Given the description of an element on the screen output the (x, y) to click on. 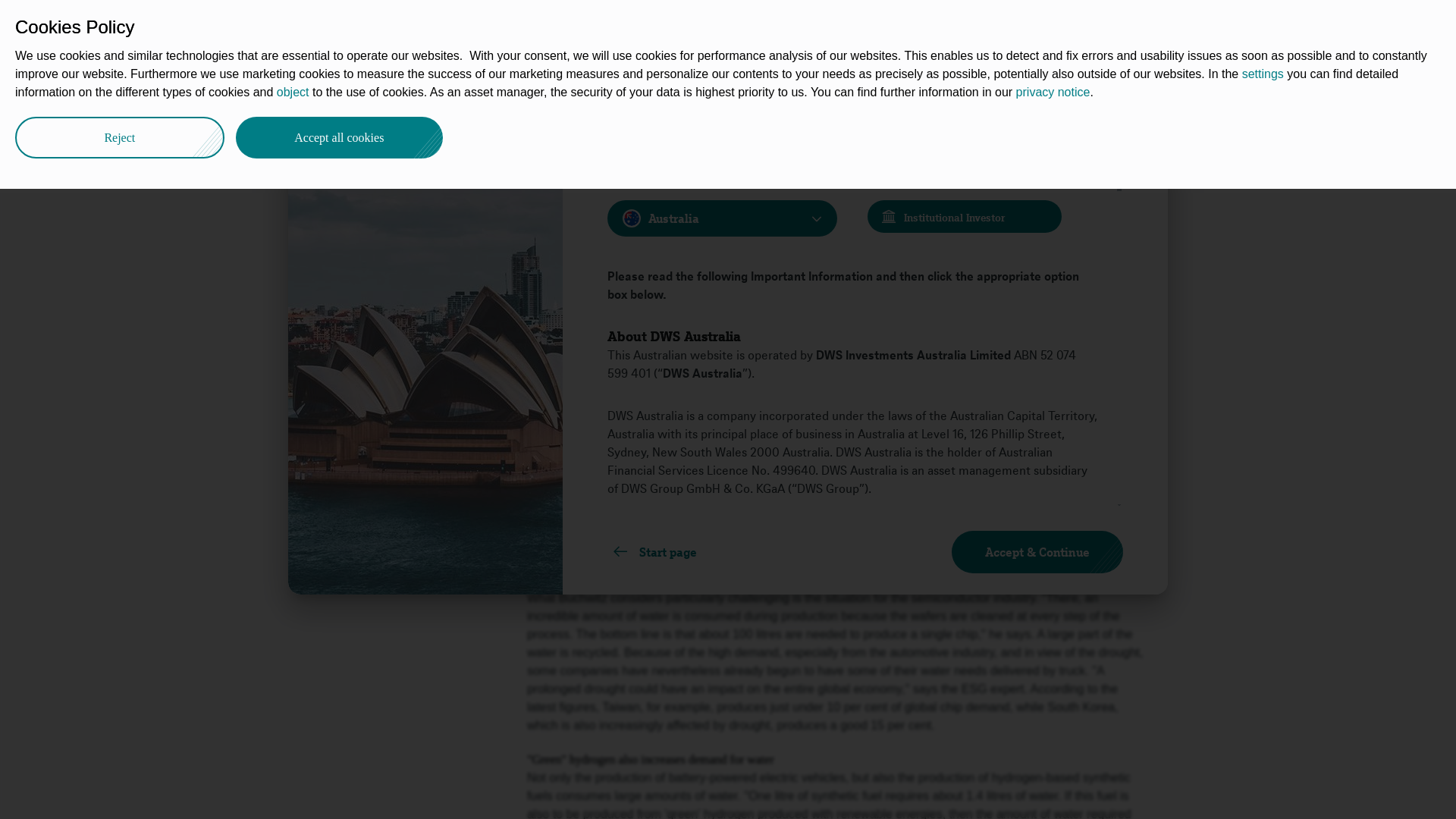
Capabilities (498, 24)
Share (1140, 90)
Media (408, 92)
Solutions (580, 24)
Home (307, 92)
Media Releases (483, 92)
Profile (358, 92)
Profile (358, 92)
Media Releases (483, 92)
Media (408, 92)
DWS - Investors for a new now (307, 92)
Share (315, 181)
